Given the description of an element on the screen output the (x, y) to click on. 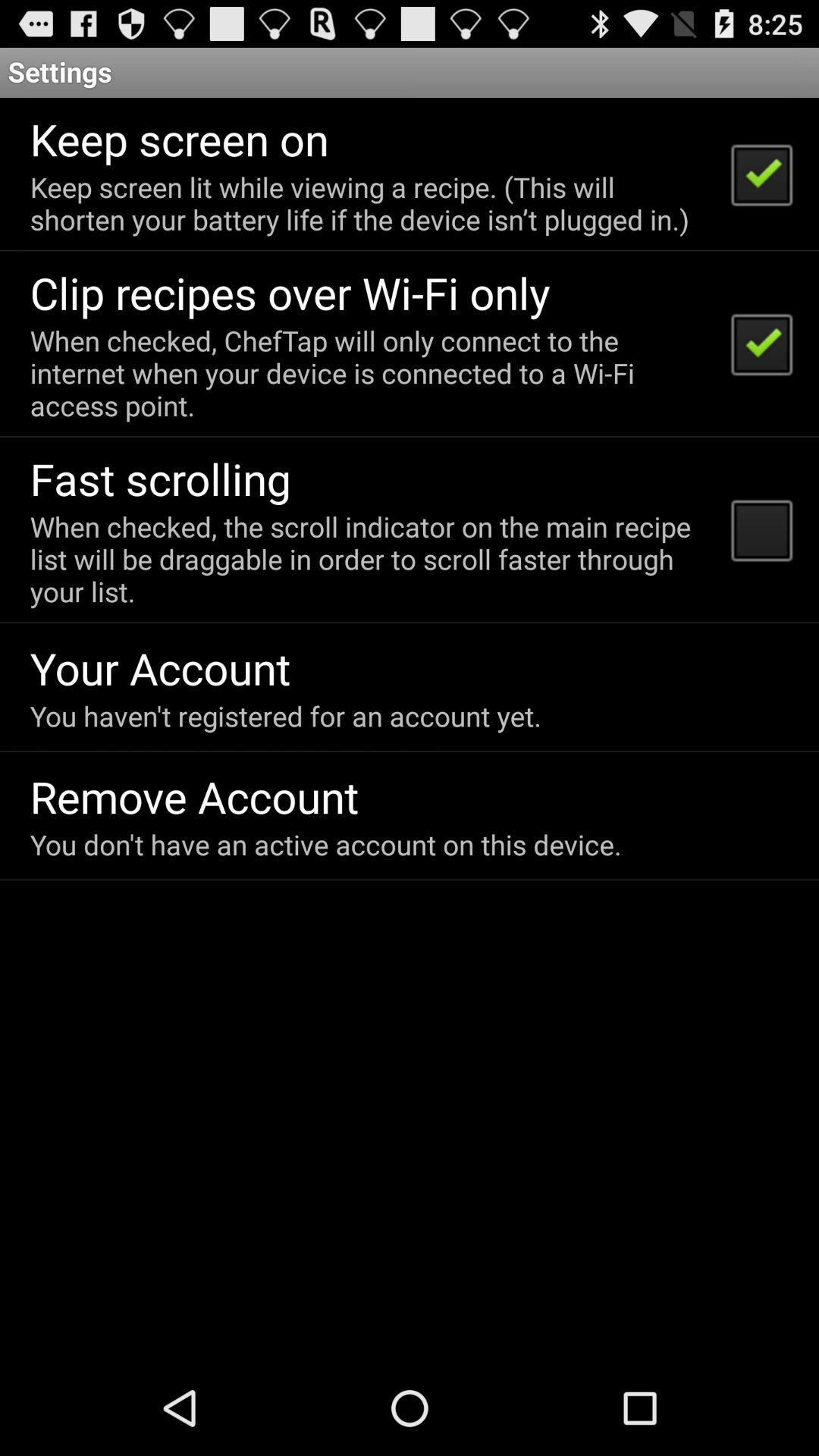
flip to the clip recipes over icon (289, 292)
